Given the description of an element on the screen output the (x, y) to click on. 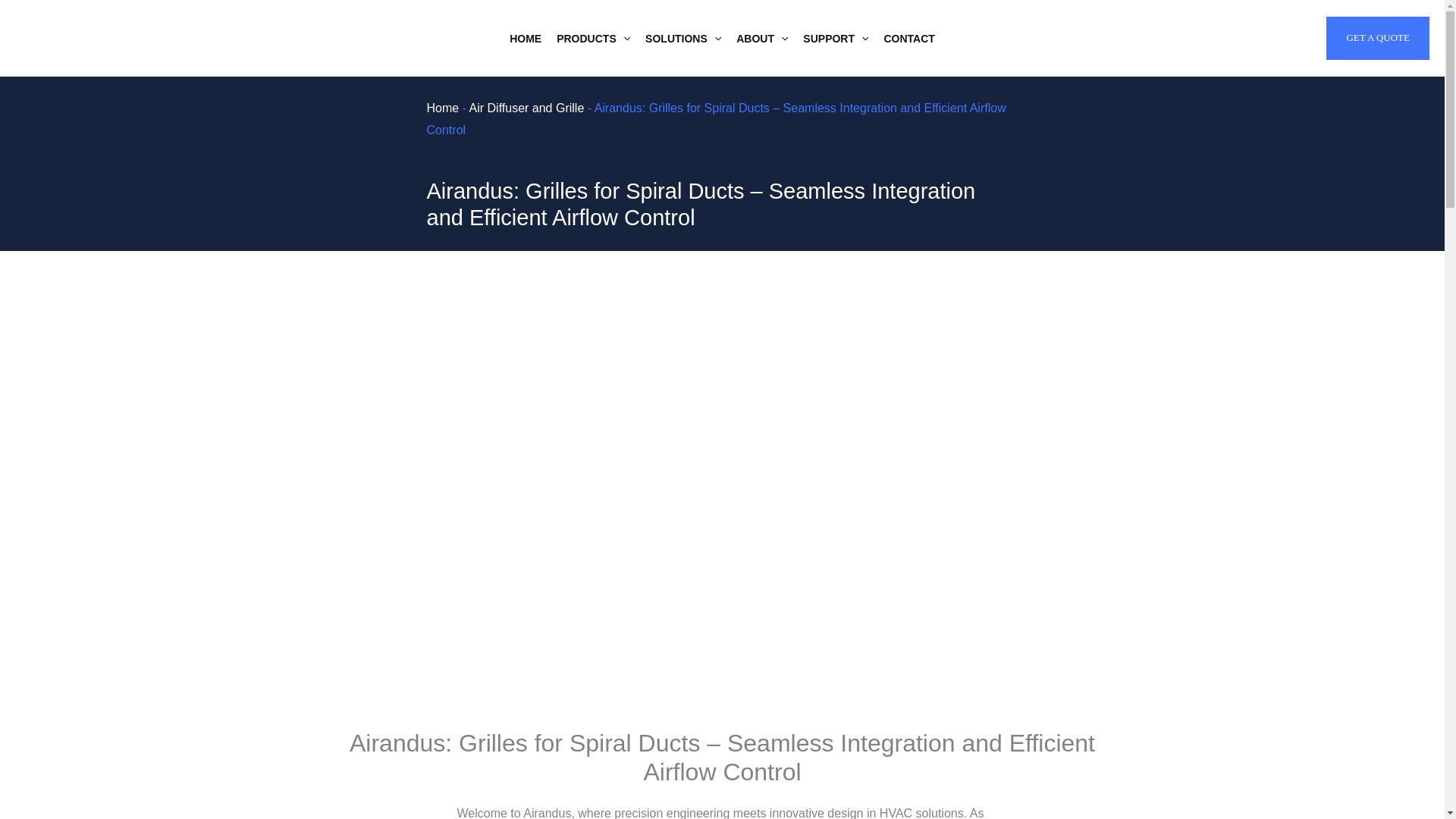
HOME (525, 38)
PRODUCTS (592, 38)
